Given the description of an element on the screen output the (x, y) to click on. 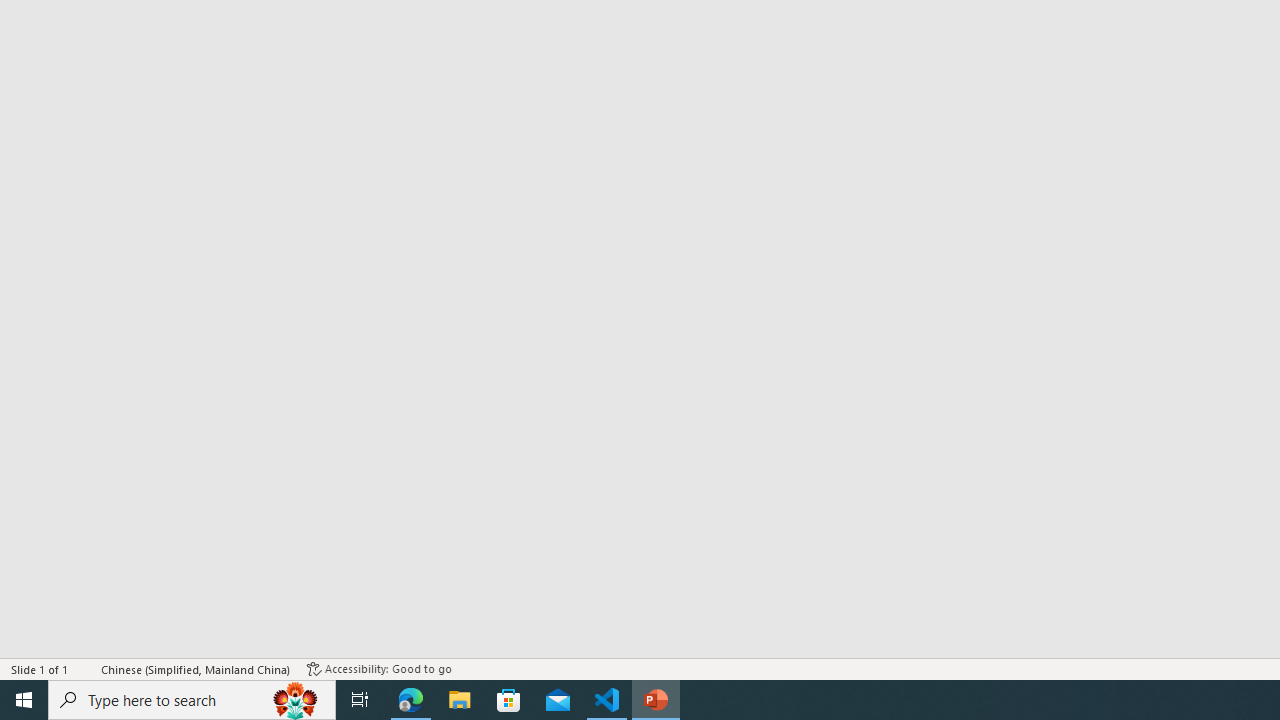
Accessibility Checker Accessibility: Good to go (379, 668)
Spell Check  (86, 668)
Microsoft Edge - 1 running window (411, 699)
